Given the description of an element on the screen output the (x, y) to click on. 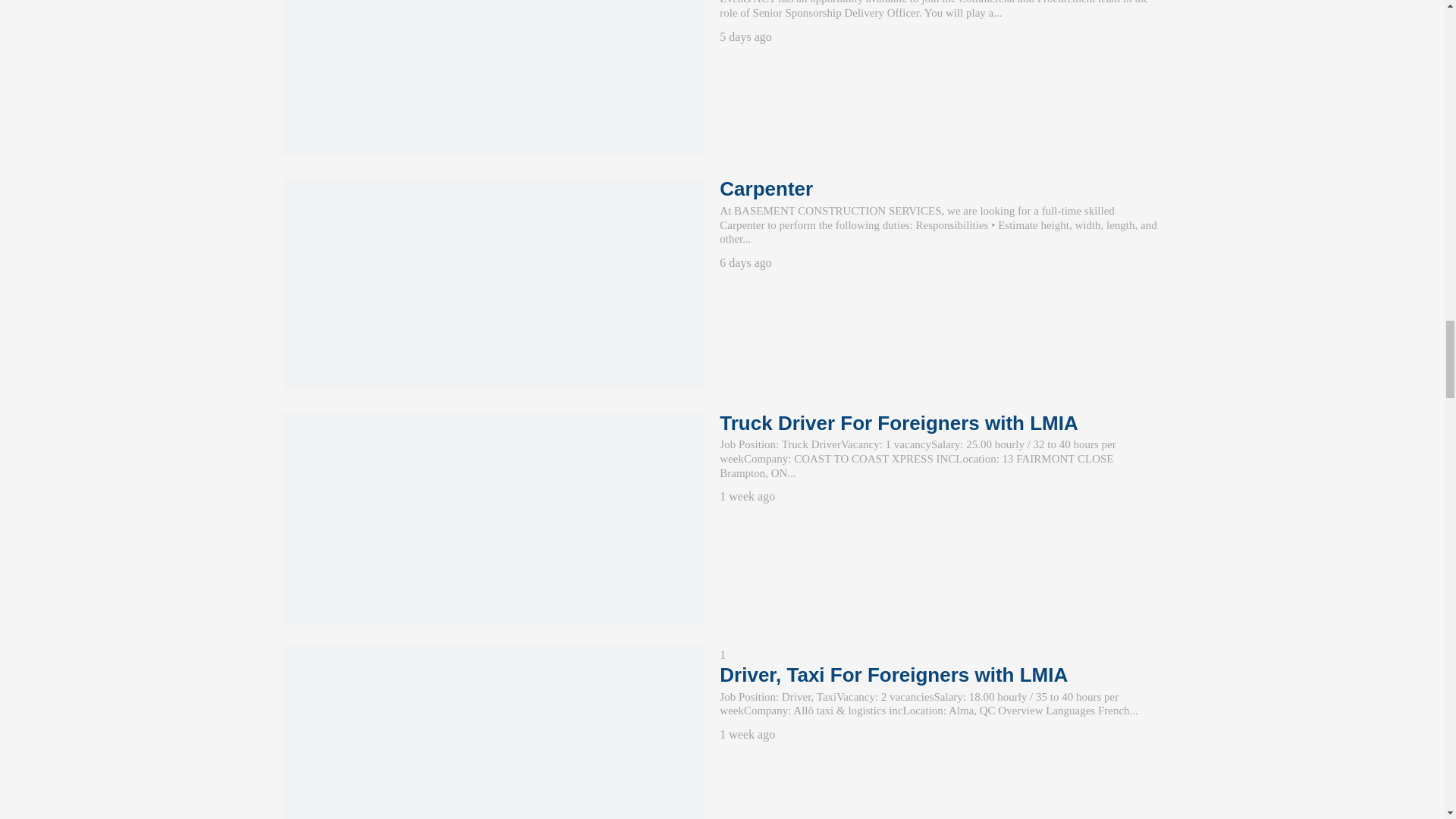
Carpenter (493, 283)
Senior Sponsorship Delivery OfficerFull-time Permanent (493, 77)
Truck Driver For Foreigners with LMIA (493, 517)
